Given the description of an element on the screen output the (x, y) to click on. 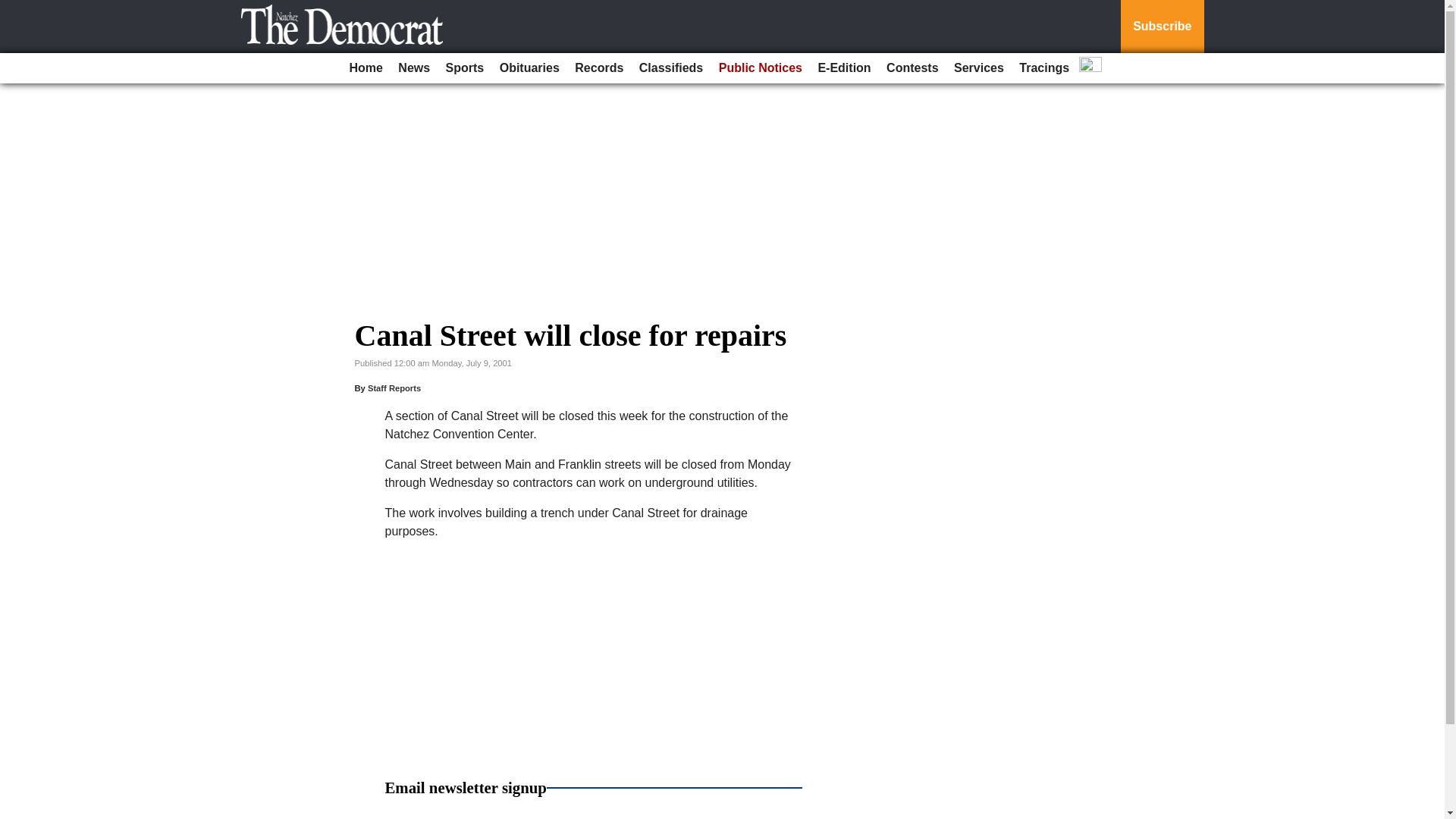
Services (978, 68)
Staff Reports (394, 388)
Home (365, 68)
Classifieds (671, 68)
Subscribe (1162, 26)
Obituaries (529, 68)
News (413, 68)
Go (13, 9)
Public Notices (760, 68)
Contests (911, 68)
